Given the description of an element on the screen output the (x, y) to click on. 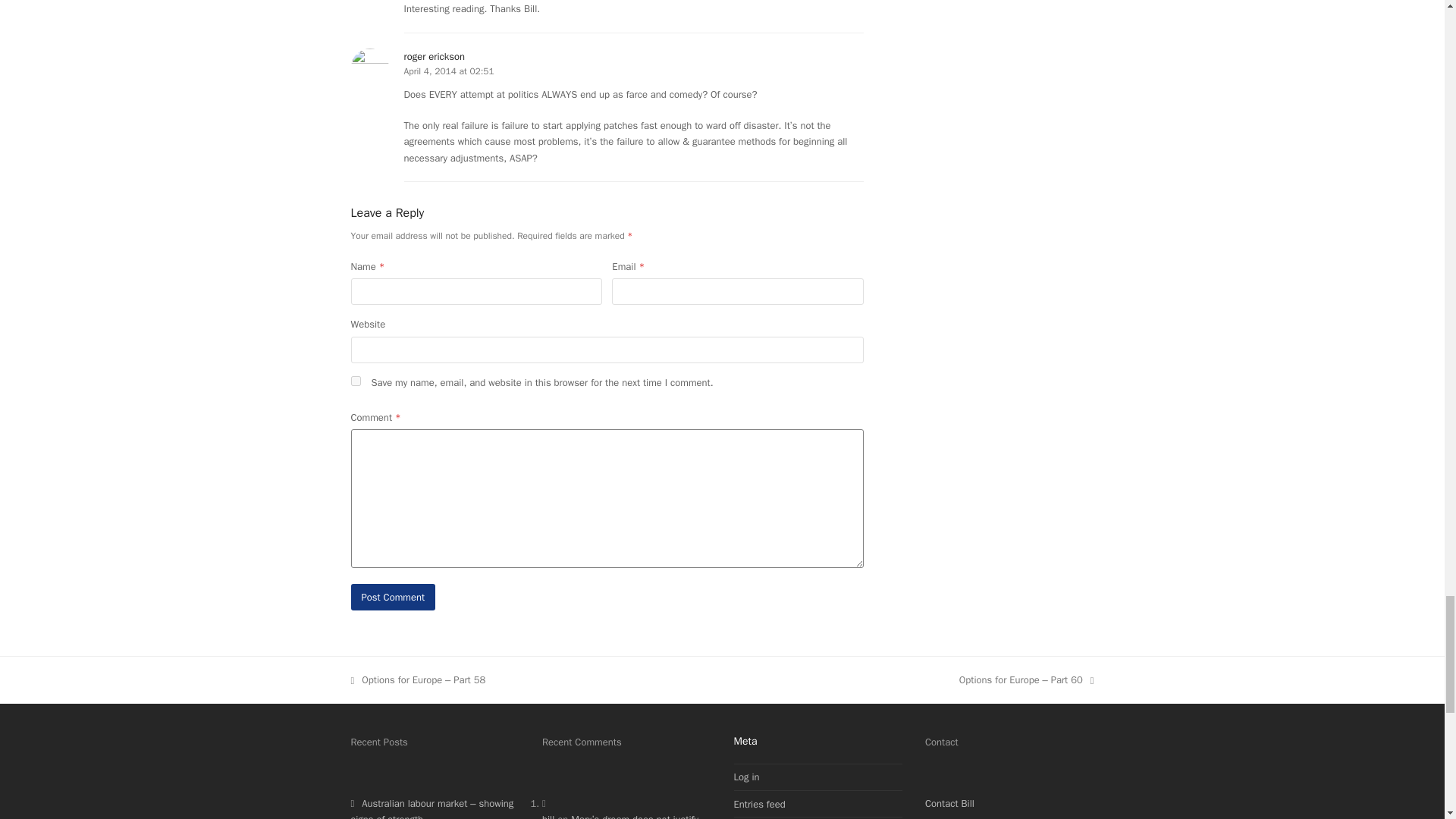
April 4, 2014 at 02:51 (448, 70)
Post Comment (392, 596)
Post Comment (392, 596)
yes (354, 380)
